Given the description of an element on the screen output the (x, y) to click on. 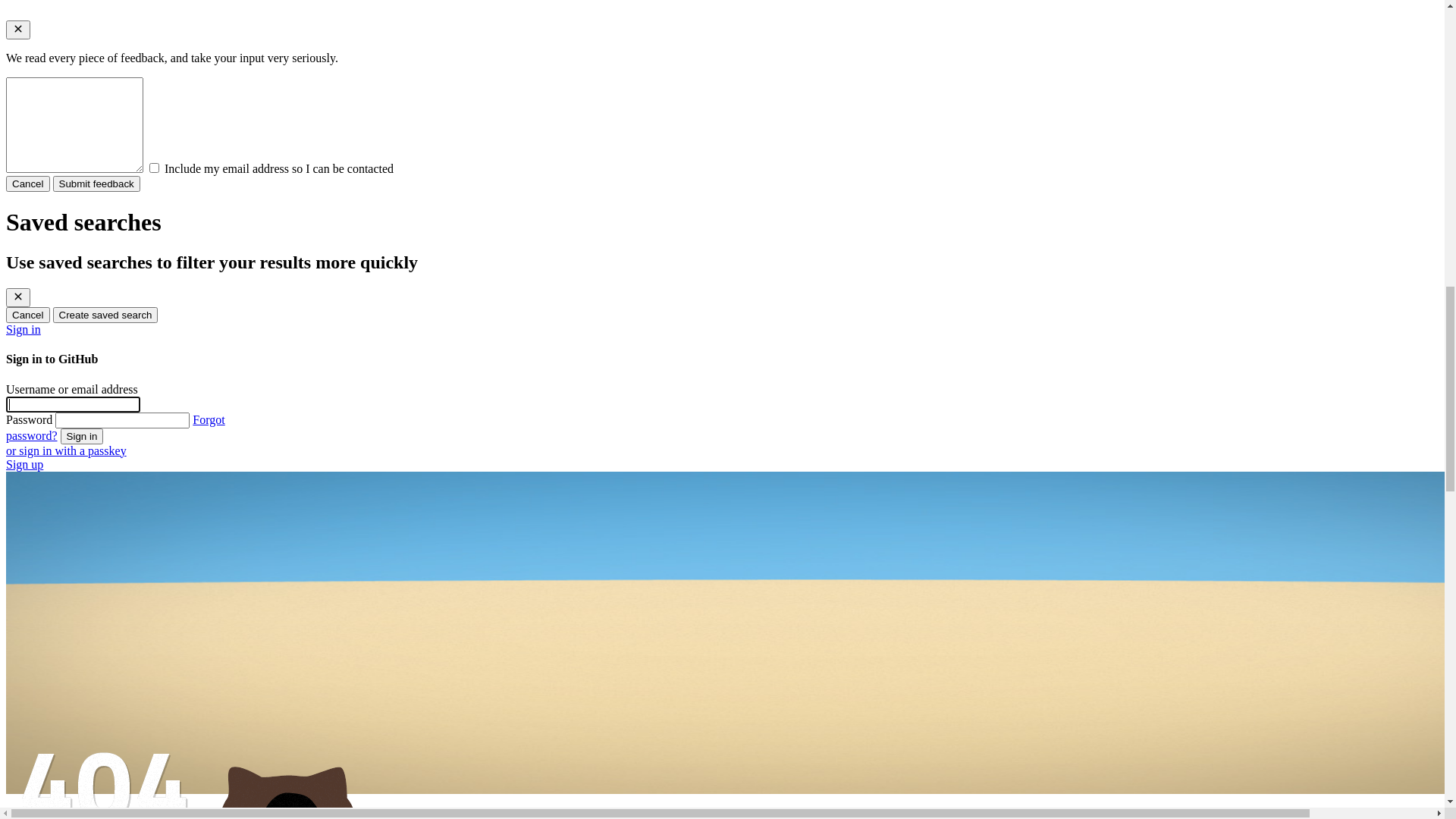
Learning Pathways Element type: text (120, 749)
Sign up Element type: text (24, 68)
Solutions Element type: text (70, 591)
Customer Stories Element type: text (108, 778)
DevSecOps Element type: text (102, 721)
Education Element type: text (98, 663)
Enterprise Element type: text (91, 621)
Copilot
Write better code with AI Element type: text (752, 343)
Product Element type: text (67, 111)
Startups Element type: text (86, 648)
Documentation Element type: text (111, 544)
GitHub Skills Element type: text (107, 559)
Code review
Manage code changes Element type: text (752, 391)
Codespaces
Instant dev environments Element type: text (752, 294)
DevOps Element type: text (93, 705)
Blog Element type: text (85, 574)
White papers, Ebooks, Webinars Element type: text (153, 765)
Security
Find and fix vulnerabilities Element type: text (752, 245)
Teams Element type: text (82, 634)
Toggle navigation Element type: text (51, 27)
CI/CD & Automation Element type: text (119, 690)
Actions
Automate any workflow Element type: text (752, 148)
Skip to content Element type: text (42, 12)
All features Element type: text (94, 529)
Partners Element type: text (93, 793)
Discussions
Collaborate outside of code Element type: text (752, 488)
Packages
Host and manage packages Element type: text (752, 197)
Issues
Plan and track work Element type: text (752, 440)
